Given the description of an element on the screen output the (x, y) to click on. 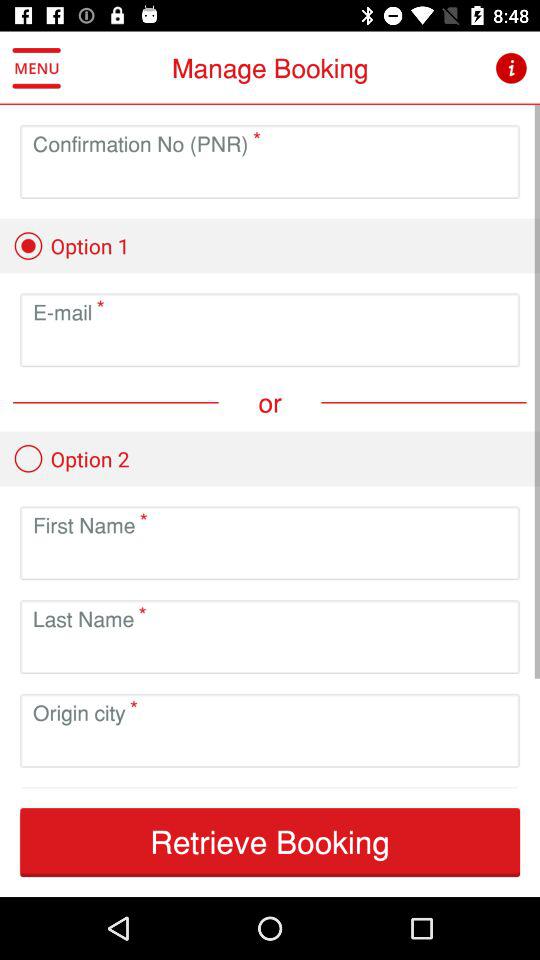
jump to the retrieve booking (269, 842)
